Given the description of an element on the screen output the (x, y) to click on. 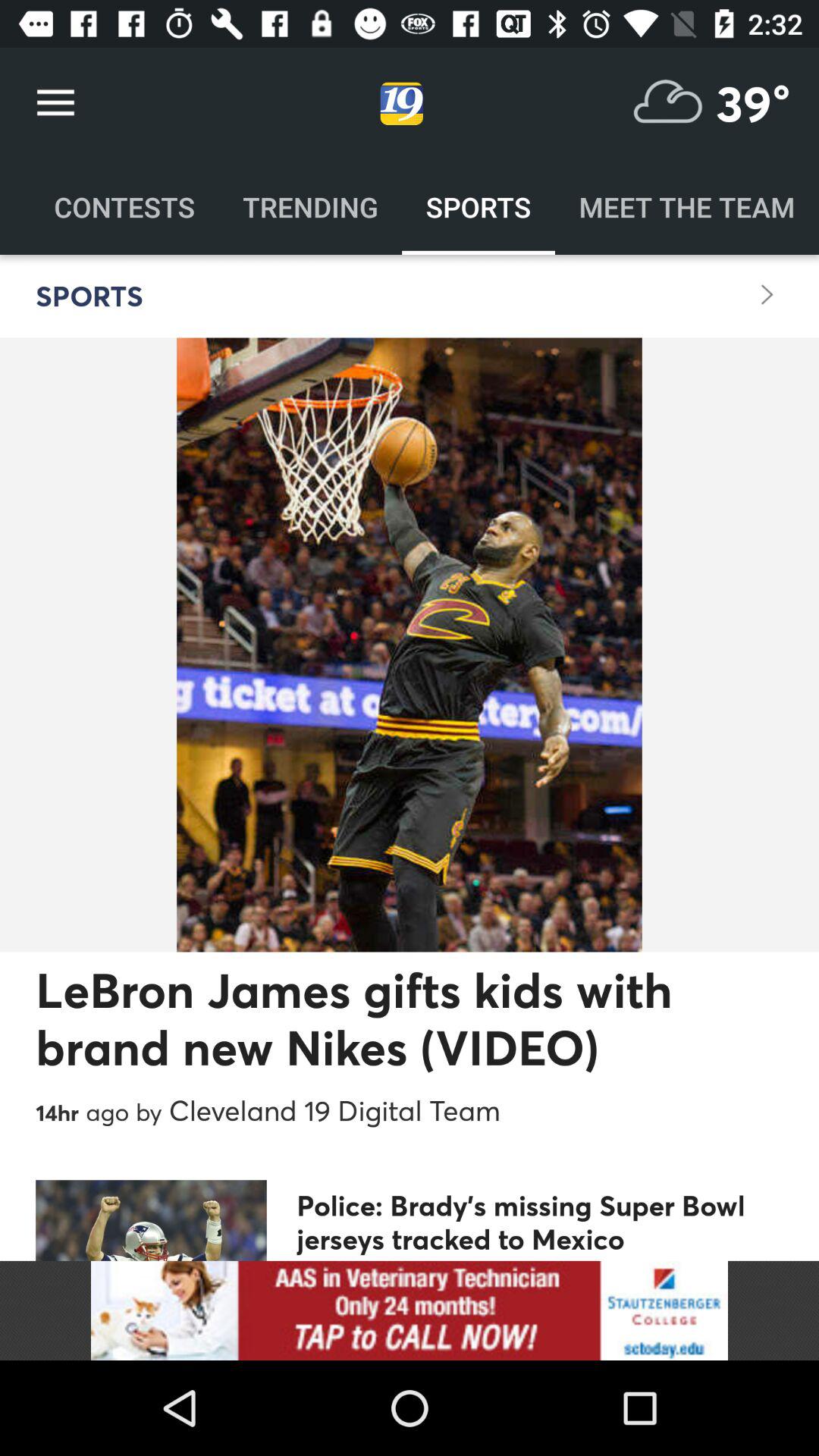
view weather (668, 103)
